Given the description of an element on the screen output the (x, y) to click on. 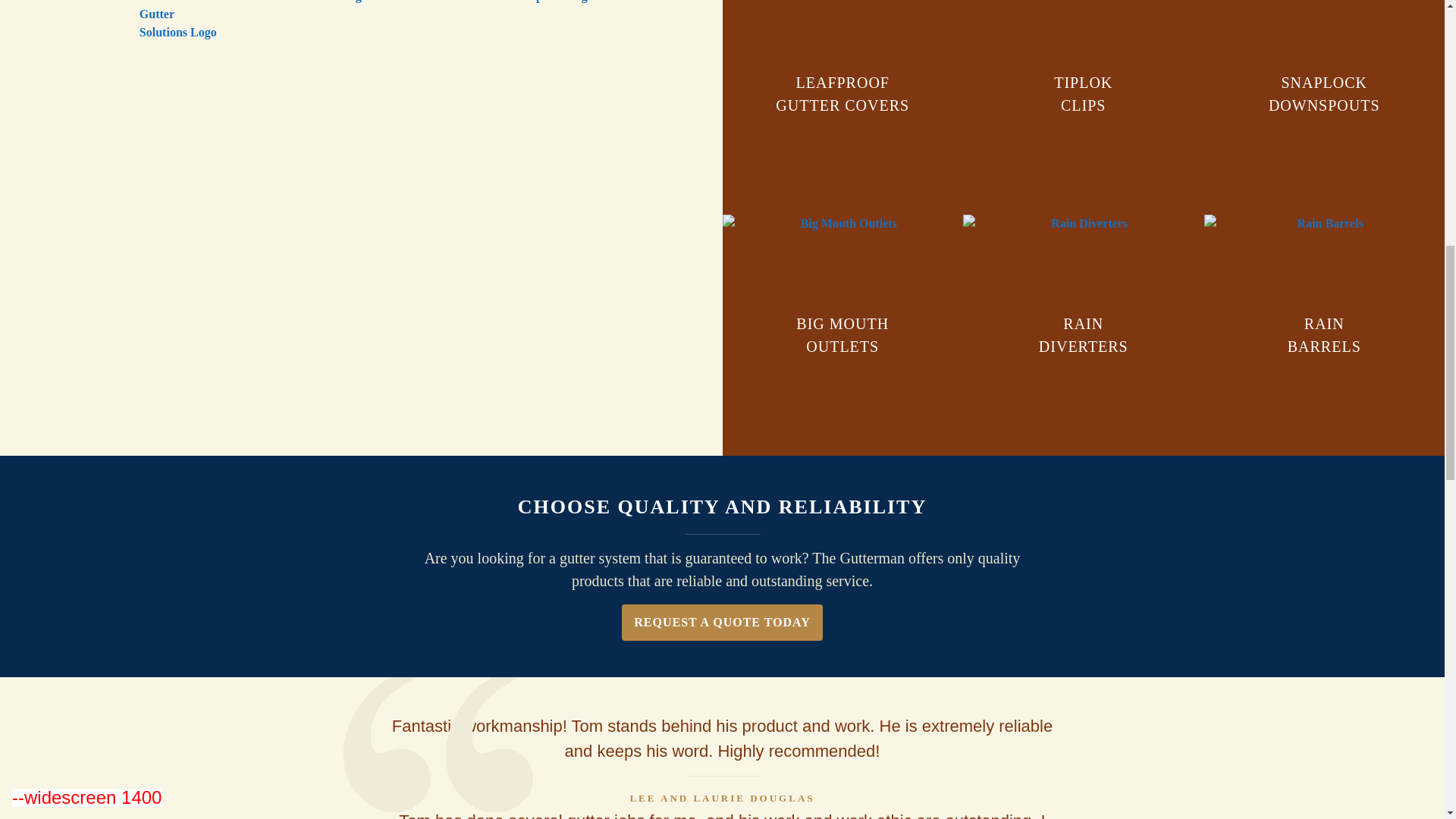
REQUEST A QUOTE TODAY (1083, 334)
